Given the description of an element on the screen output the (x, y) to click on. 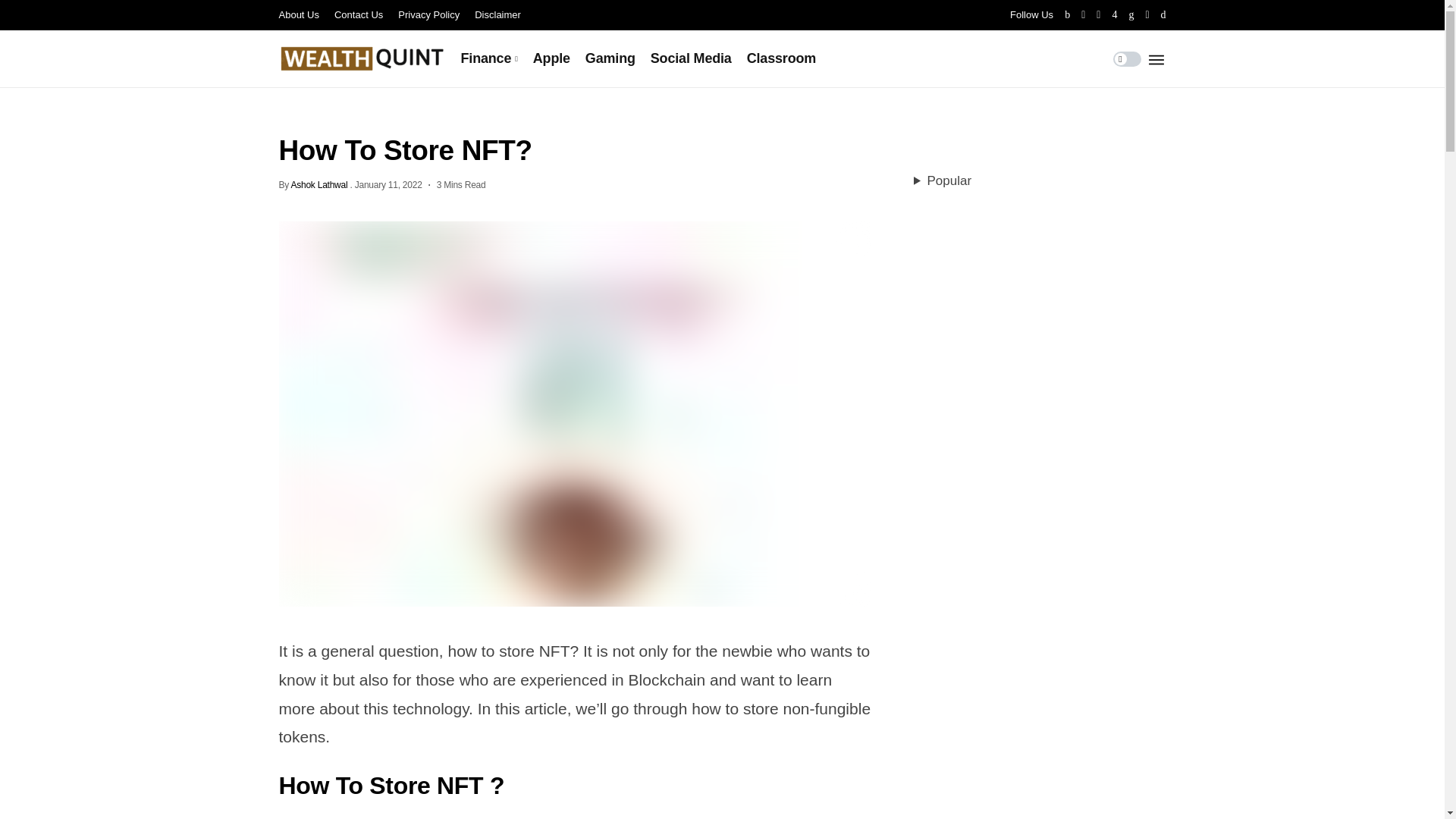
Posts by Ashok Lathwal (318, 184)
Social Media (691, 58)
Disclaimer (497, 15)
Classroom (780, 58)
Privacy Policy (428, 15)
Finance (489, 58)
Contact Us (358, 15)
About Us (298, 15)
